Given the description of an element on the screen output the (x, y) to click on. 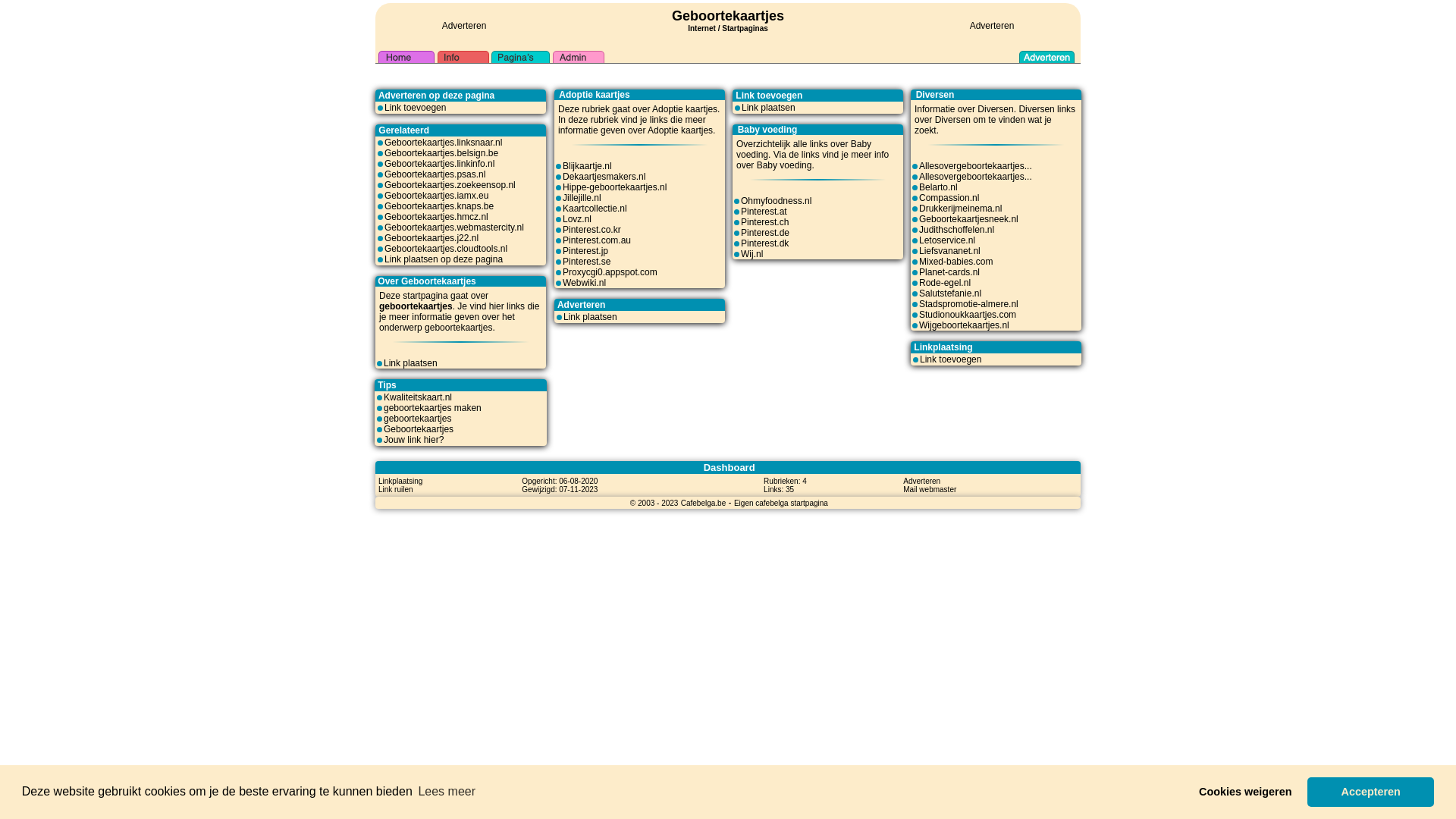
Allesovergeboortekaartjes... Element type: text (975, 176)
Accepteren Element type: text (1370, 791)
Link plaatsen Element type: text (410, 362)
Rode-egel.nl Element type: text (944, 282)
Pinterest.ch Element type: text (764, 221)
Drukkerijmeinema.nl Element type: text (960, 208)
Geboortekaartjes.psas.nl Element type: text (434, 174)
Geboortekaartjes.linkinfo.nl Element type: text (439, 163)
Geboortekaartjes Element type: text (418, 428)
Link plaatsen op deze pagina Element type: text (443, 259)
Geboortekaartjes.webmastercity.nl Element type: text (454, 227)
Link ruilen Element type: text (395, 488)
Mixed-babies.com Element type: text (955, 261)
Geboortekaartjes.belsign.be Element type: text (441, 152)
Geboortekaartjes.knaps.be Element type: text (438, 205)
Cafebelga.be Element type: text (703, 502)
Geboortekaartjes Element type: text (727, 15)
Jillejille.nl Element type: text (581, 197)
Startpaginas Element type: text (744, 28)
Proxycgi0.appspot.com Element type: text (609, 271)
Studionoukkaartjes.com Element type: text (967, 314)
Geboortekaartjes.cloudtools.nl Element type: text (445, 248)
Allesovergeboortekaartjes... Element type: text (975, 165)
Hippe-geboortekaartjes.nl Element type: text (614, 187)
Kwaliteitskaart.nl Element type: text (417, 397)
geboortekaartjes maken Element type: text (432, 407)
Kaartcollectie.nl Element type: text (594, 208)
Geboortekaartjes.linksnaar.nl Element type: text (443, 142)
geboortekaartjes Element type: text (417, 418)
Geboortekaartjes.zoekeensop.nl Element type: text (449, 184)
Lovz.nl Element type: text (576, 218)
Lees meer Element type: text (446, 791)
Webwiki.nl Element type: text (583, 282)
Link toevoegen Element type: text (950, 359)
Geboortekaartjes.iamx.eu Element type: text (436, 195)
Linkplaatsing Element type: text (400, 480)
Pinterest.com.au Element type: text (596, 240)
Adverteren Element type: text (464, 25)
Belarto.nl Element type: text (938, 187)
Judithschoffelen.nl Element type: text (956, 229)
Internet Element type: text (701, 26)
Pinterest.se Element type: text (586, 261)
Letoservice.nl Element type: text (947, 240)
Liefsvananet.nl Element type: text (949, 250)
Planet-cards.nl Element type: text (949, 271)
Link toevoegen Element type: text (414, 107)
Pinterest.dk Element type: text (764, 243)
Compassion.nl Element type: text (949, 197)
Pinterest.at Element type: text (763, 211)
Wij.nl Element type: text (751, 253)
Geboortekaartjes.j22.nl Element type: text (431, 237)
Dekaartjesmakers.nl Element type: text (603, 176)
Mail webmaster Element type: text (929, 488)
Geboortekaartjesneek.nl Element type: text (968, 218)
Link plaatsen Element type: text (590, 316)
Salutstefanie.nl Element type: text (950, 293)
Adverteren Element type: text (991, 25)
Link plaatsen Element type: text (768, 107)
Jouw link hier? Element type: text (413, 439)
Ohmyfoodness.nl Element type: text (775, 200)
Cookies weigeren Element type: text (1245, 791)
Pinterest.de Element type: text (764, 232)
Adverteren Element type: text (921, 480)
Pinterest.jp Element type: text (585, 250)
Geboortekaartjes.hmcz.nl Element type: text (436, 216)
Wijgeboortekaartjes.nl Element type: text (964, 325)
Eigen cafebelga startpagina Element type: text (781, 502)
Stadspromotie-almere.nl Element type: text (968, 303)
Blijkaartje.nl Element type: text (586, 165)
Pinterest.co.kr Element type: text (591, 229)
